Given the description of an element on the screen output the (x, y) to click on. 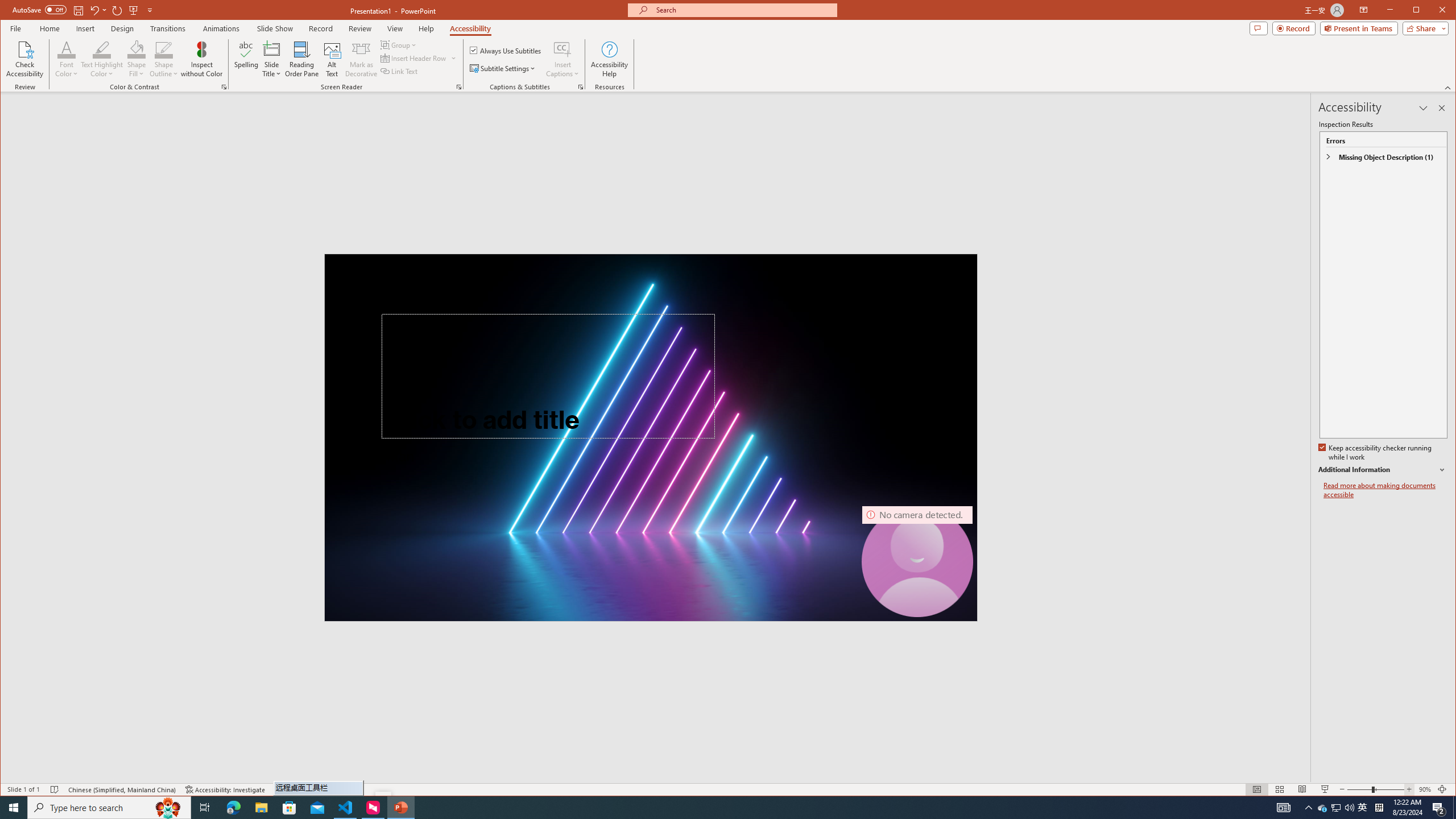
Screen Reader (458, 86)
Accessibility Help (608, 59)
Subtitle Settings (502, 68)
